Given the description of an element on the screen output the (x, y) to click on. 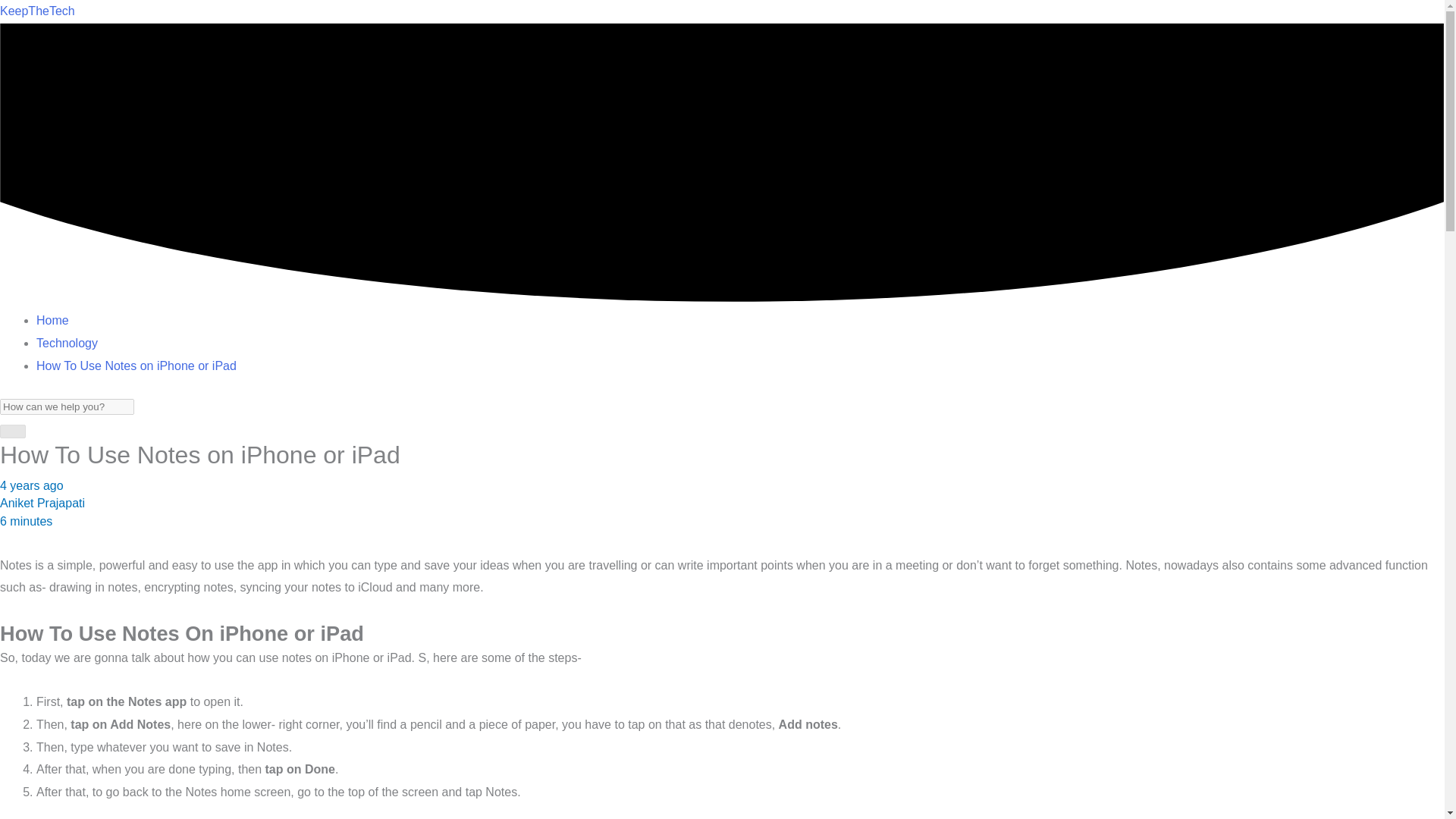
KeepTheTech (37, 10)
KeepTheTech (37, 10)
Technology (66, 342)
How To Use Notes on iPhone or iPad (135, 365)
Aniket Prajapati (42, 502)
Home (52, 319)
